Given the description of an element on the screen output the (x, y) to click on. 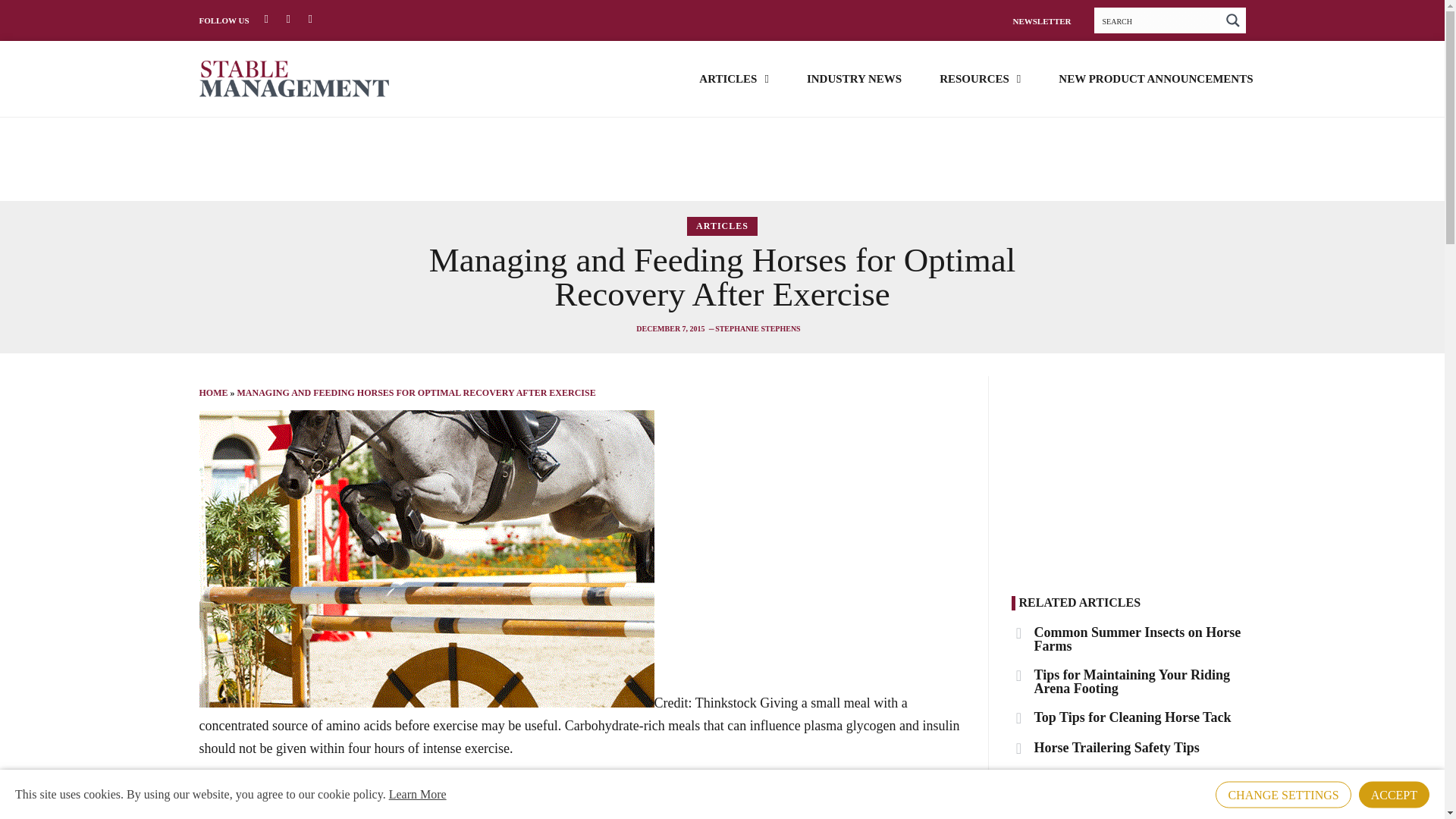
NEWSLETTER (1040, 20)
NEW PRODUCT ANNOUNCEMENTS (1155, 78)
3rd party ad content (1132, 470)
INDUSTRY NEWS (853, 78)
RESOURCES (979, 78)
3rd party ad content (721, 159)
ARTICLES (733, 78)
